Given the description of an element on the screen output the (x, y) to click on. 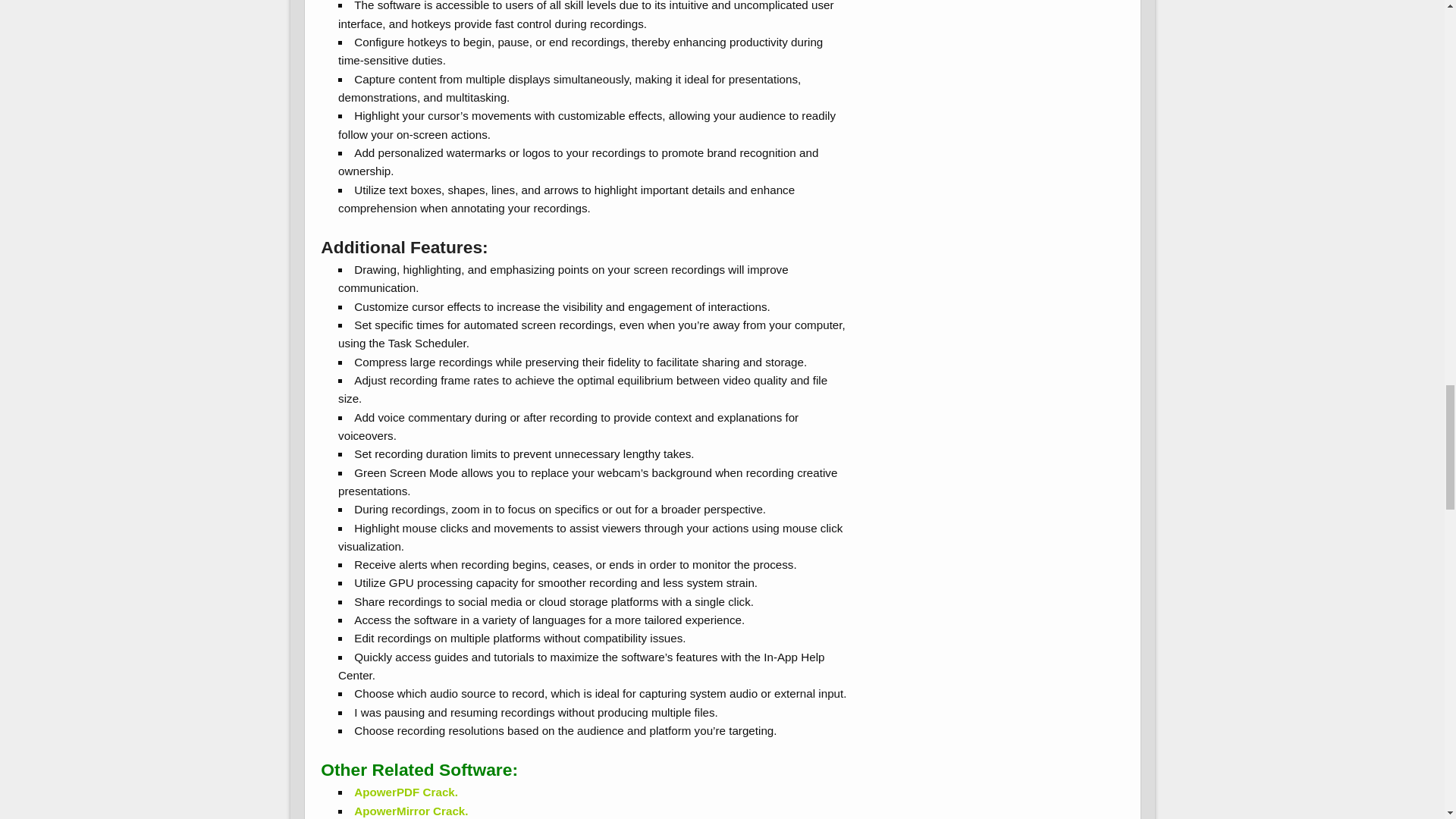
ApowerPDF Crack. (405, 791)
ApowerMirror Crack. (410, 810)
